Given the description of an element on the screen output the (x, y) to click on. 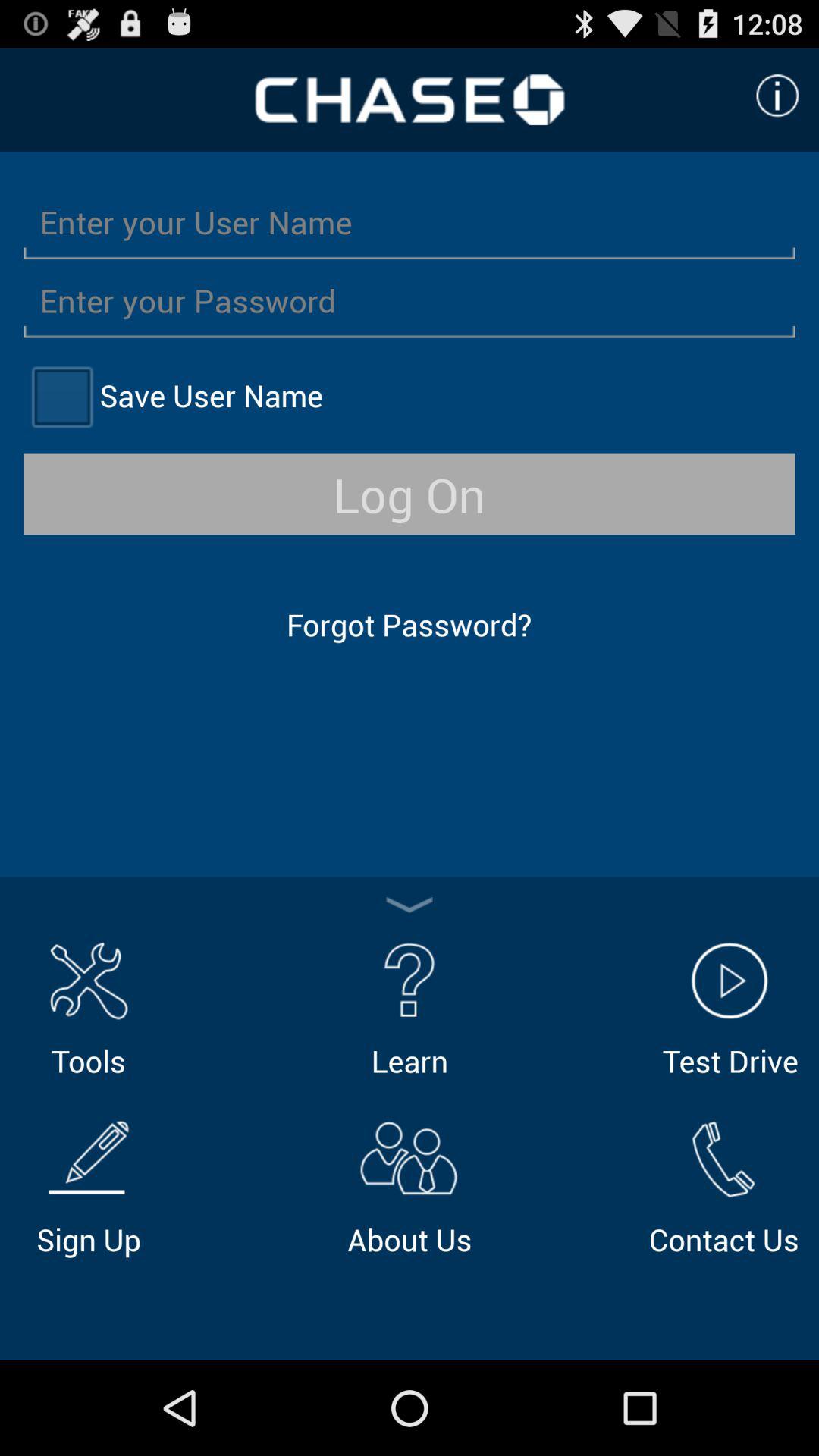
flip to about us icon (409, 1185)
